Given the description of an element on the screen output the (x, y) to click on. 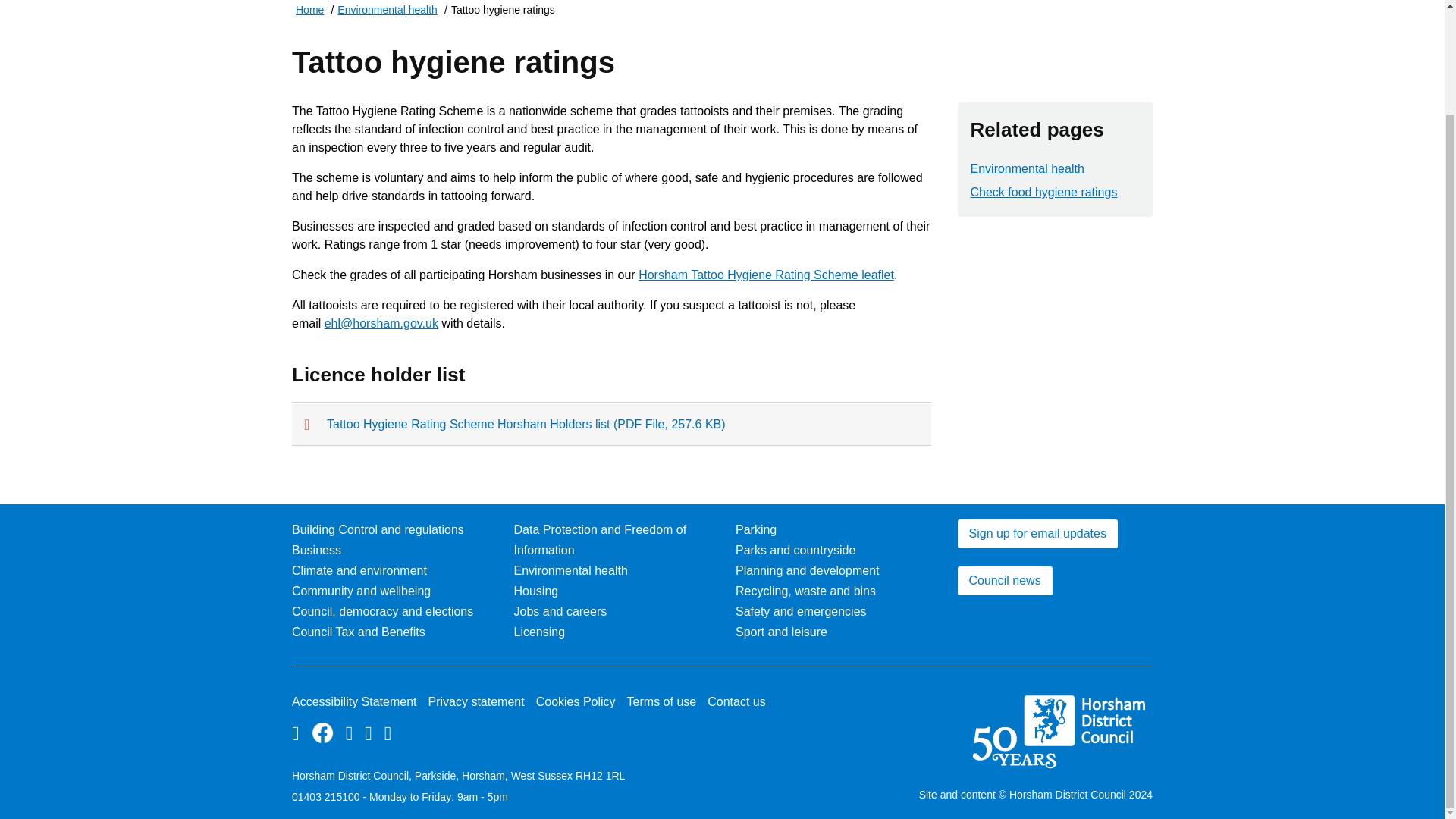
Home (309, 11)
Council Tax and Benefits (358, 631)
Building Control and regulations (378, 529)
Sign up for email updates (1036, 533)
Council, democracy and elections (382, 611)
Licensing (539, 631)
Business (316, 549)
Environmental health (1027, 168)
Privacy statement (476, 701)
Jobs and careers (560, 611)
Planning and development (807, 570)
Environmental health (570, 570)
Council news (1003, 580)
Horsham Tattoo Hygiene Rating Scheme leaflet (766, 274)
Check food hygiene ratings (1044, 192)
